Given the description of an element on the screen output the (x, y) to click on. 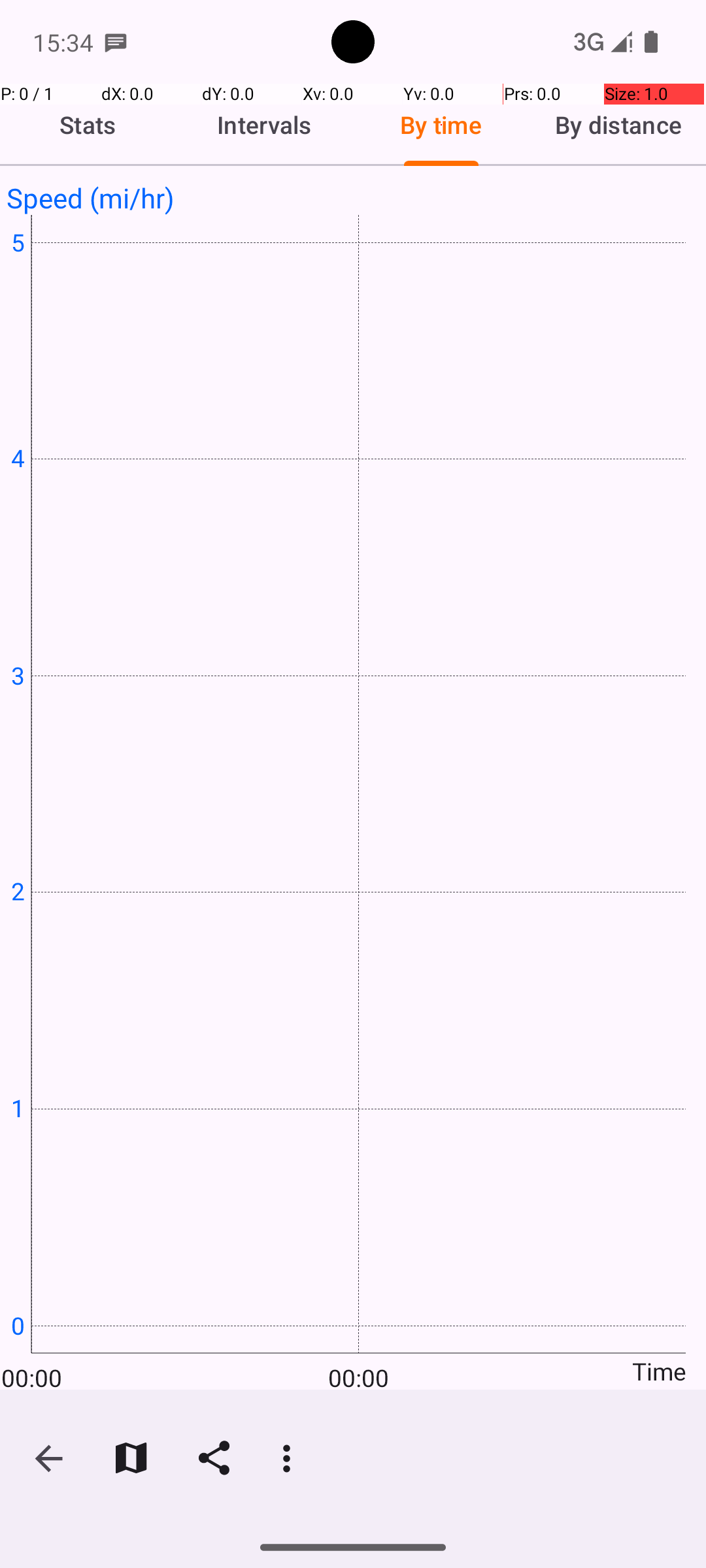
Stats Element type: android.widget.LinearLayout (88, 124)
Intervals Element type: android.widget.LinearLayout (264, 124)
By time Element type: android.widget.LinearLayout (441, 124)
By distance Element type: android.widget.LinearLayout (617, 124)
Show on map Element type: android.widget.Button (130, 1458)
